Given the description of an element on the screen output the (x, y) to click on. 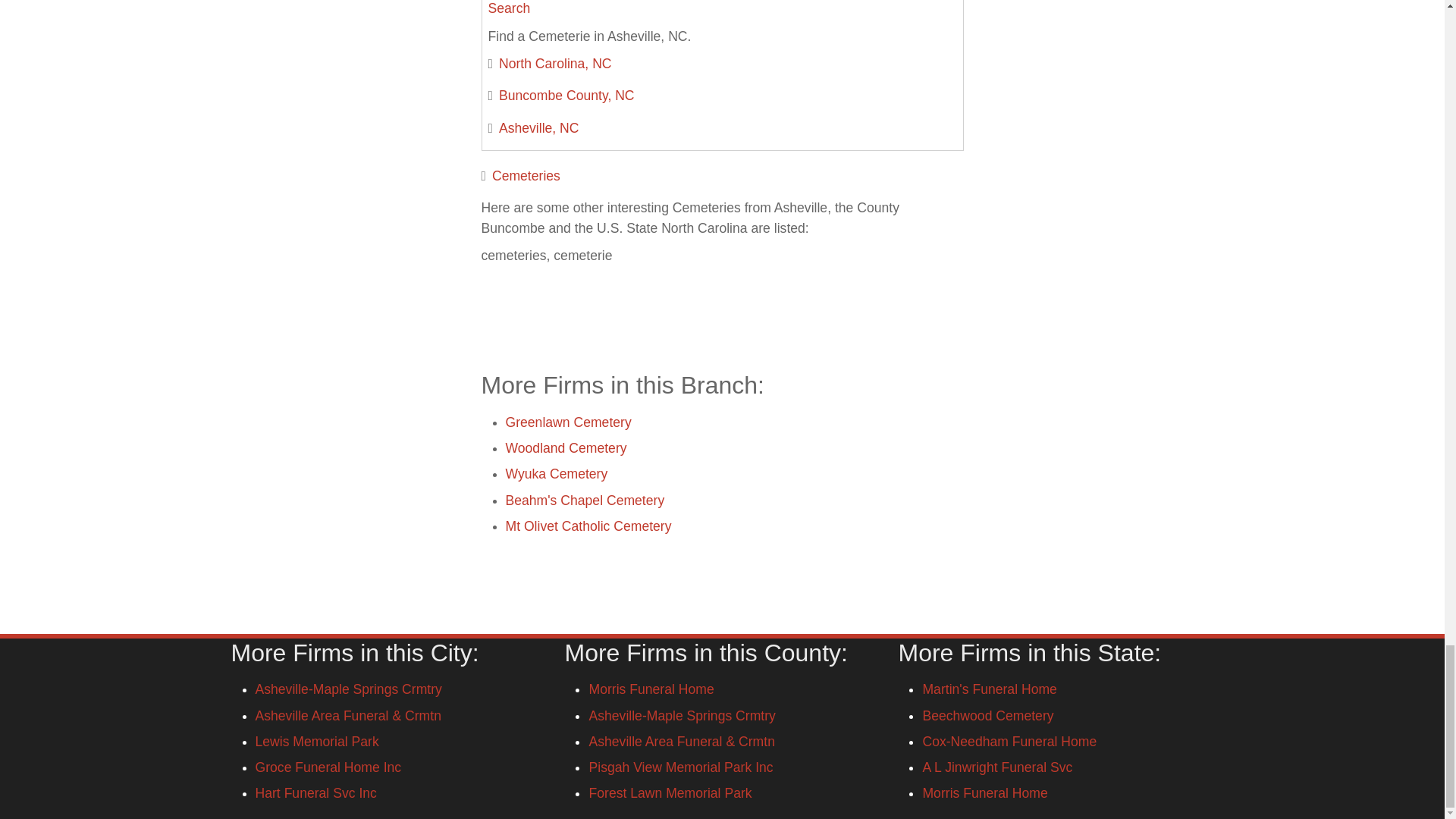
Asheville, NC (539, 127)
Search (509, 7)
Beahm's Chapel Cemetery (584, 500)
Wyuka Cemetery (556, 473)
Greenlawn Cemetery (567, 421)
Mt Olivet Catholic Cemetery (588, 525)
North Carolina, NC (555, 63)
Buncombe County, NC (566, 95)
Cemeteries (526, 175)
Woodland Cemetery (565, 447)
